Given the description of an element on the screen output the (x, y) to click on. 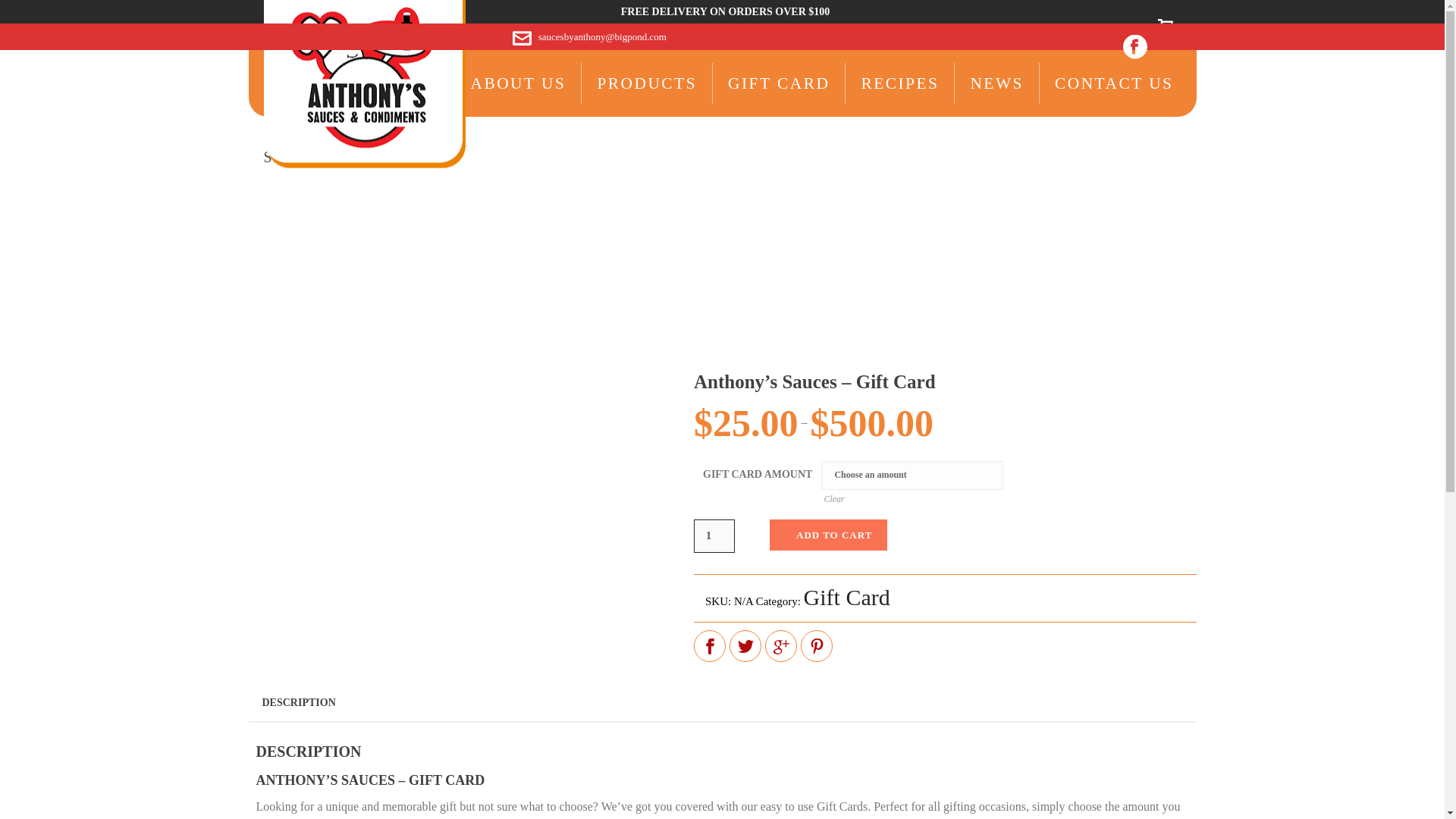
DESCRIPTION (298, 702)
PRODUCTS (645, 83)
PRODUCTS (645, 83)
HOME (411, 83)
ABOUT US (517, 83)
0 (1164, 28)
1 (714, 535)
ADD TO CART (828, 534)
GIFT CARD (778, 83)
HOME (923, 189)
